Given the description of an element on the screen output the (x, y) to click on. 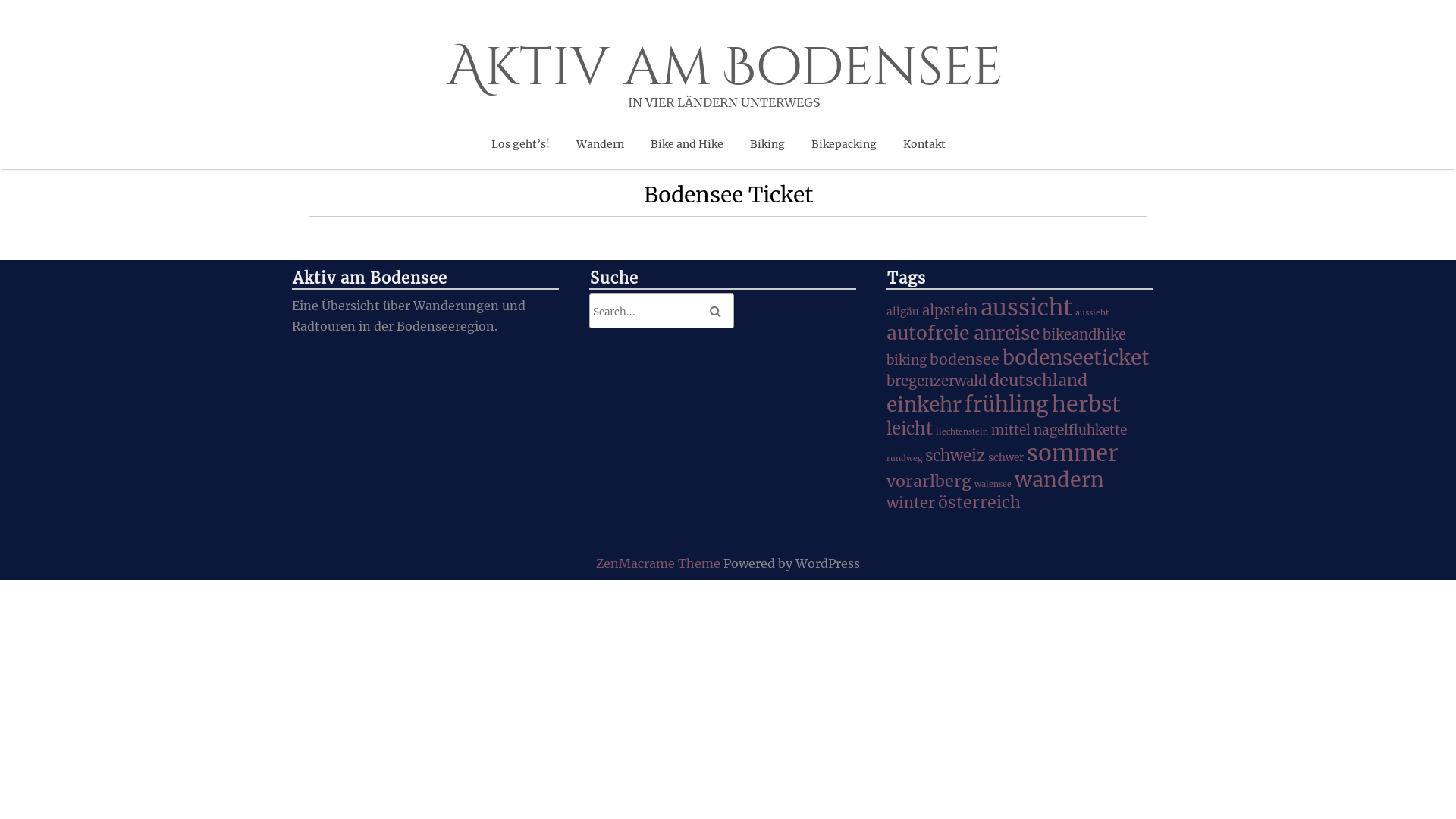
aussicht Element type: text (1026, 307)
sommer Element type: text (1071, 453)
deutschland Element type: text (1038, 380)
ZenMacrame Theme Element type: text (659, 563)
alpstein Element type: text (949, 310)
leicht Element type: text (909, 428)
Bike and Hike Element type: text (686, 142)
Biking Element type: text (767, 142)
bodensee Element type: text (964, 359)
schwer Element type: text (1005, 457)
vorarlberg Element type: text (928, 480)
wandern Element type: text (1059, 479)
aussieht Element type: text (1091, 312)
walensee Element type: text (992, 484)
bodenseeticket Element type: text (1075, 357)
bregenzerwald Element type: text (936, 380)
Kontakt Element type: text (924, 142)
autofreie anreise Element type: text (962, 333)
schweiz Element type: text (955, 455)
mittel Element type: text (1010, 429)
herbst Element type: text (1085, 403)
winter Element type: text (910, 502)
biking Element type: text (906, 359)
nagelfluhkette Element type: text (1079, 429)
Aktiv am Bodensee Element type: text (723, 75)
einkehr Element type: text (923, 404)
rundweg Element type: text (904, 458)
Wandern Element type: text (599, 142)
bikeandhike Element type: text (1084, 334)
liechtenstein Element type: text (961, 431)
Bikepacking Element type: text (843, 142)
